Given the description of an element on the screen output the (x, y) to click on. 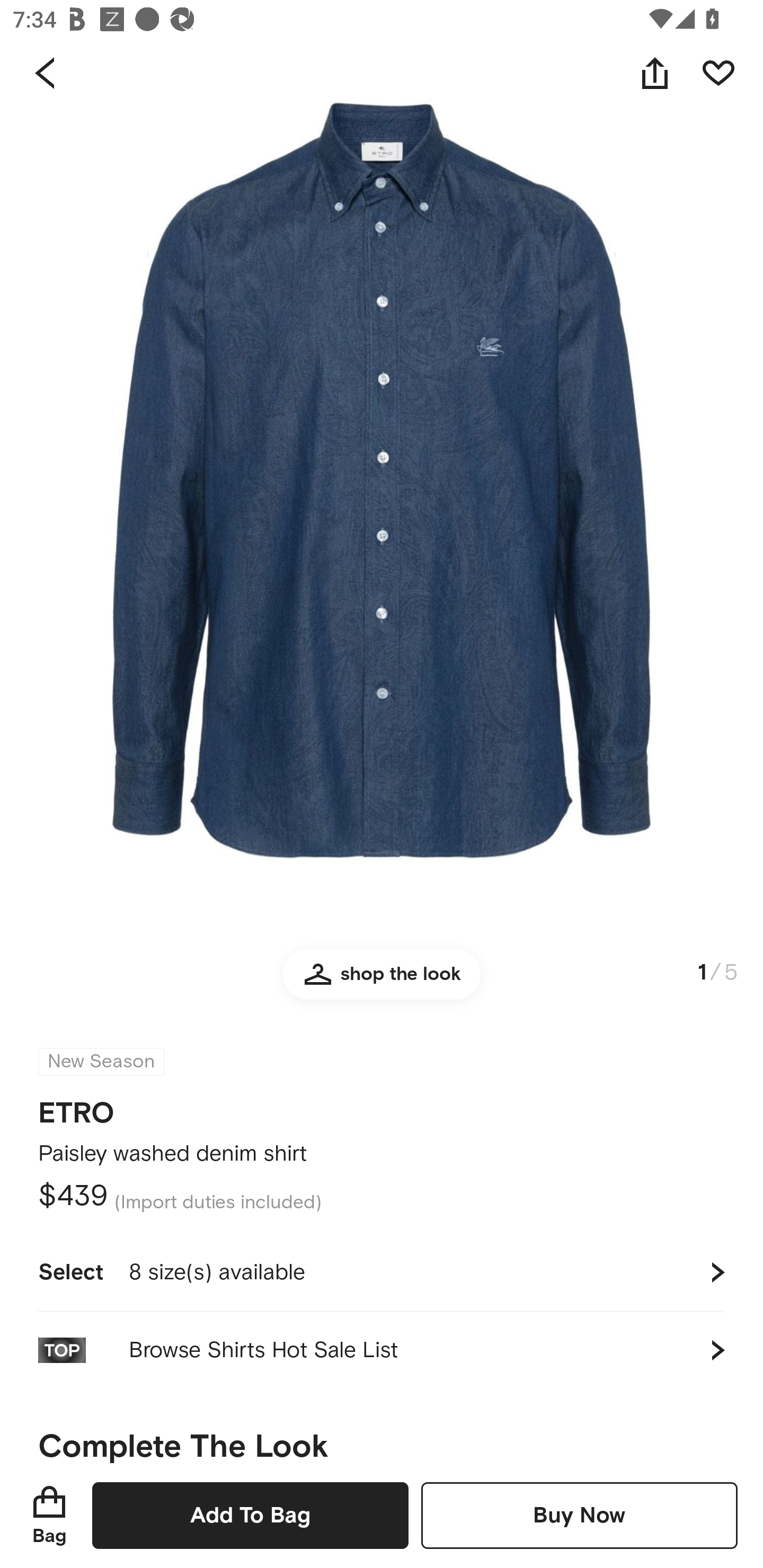
shop the look (381, 982)
ETRO (76, 1107)
Select 8 size(s) available (381, 1272)
Browse Shirts Hot Sale List (381, 1349)
Bag (49, 1515)
Add To Bag (250, 1515)
Buy Now (579, 1515)
